Given the description of an element on the screen output the (x, y) to click on. 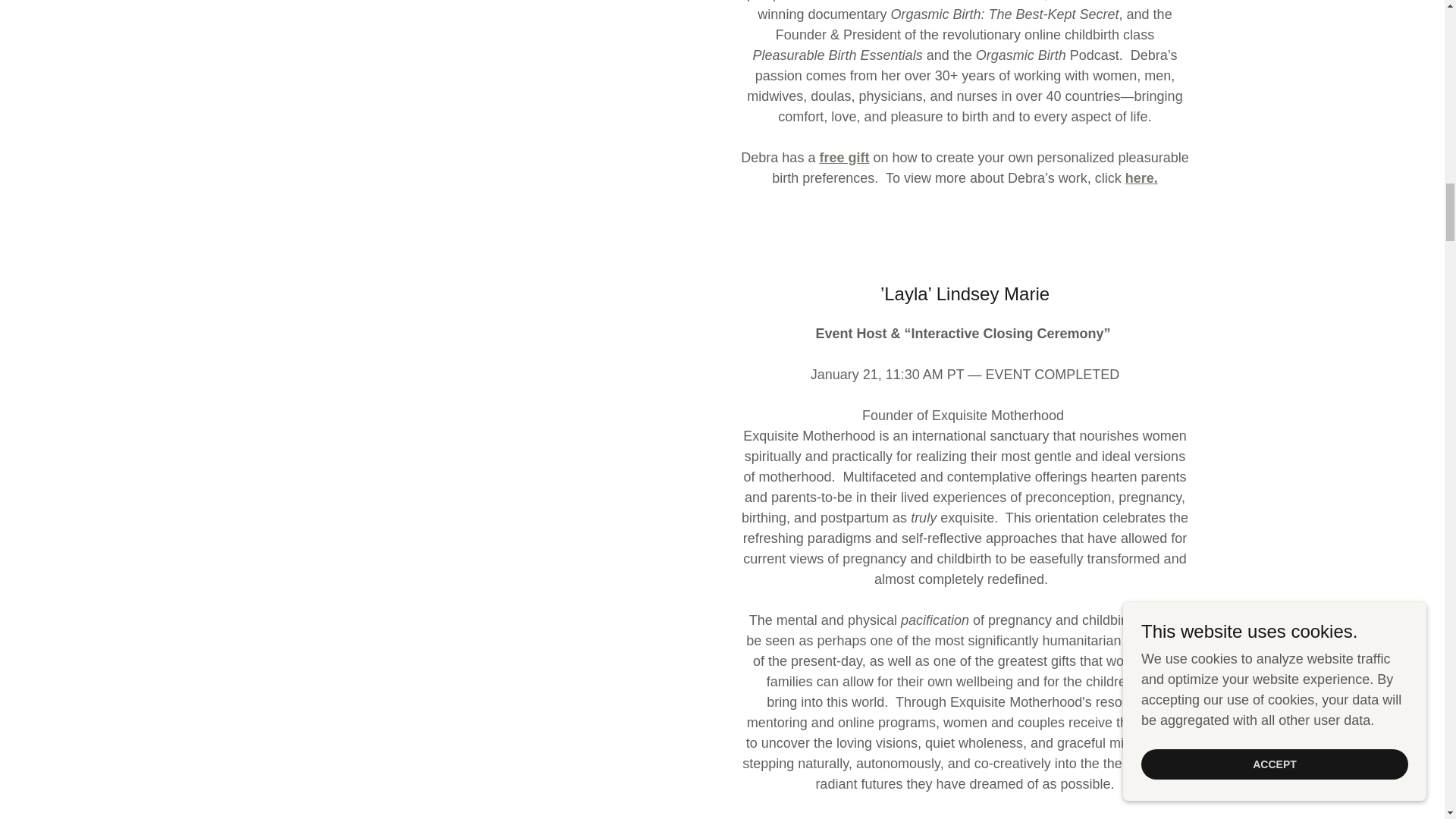
here. (1141, 177)
free gift (843, 157)
